Given the description of an element on the screen output the (x, y) to click on. 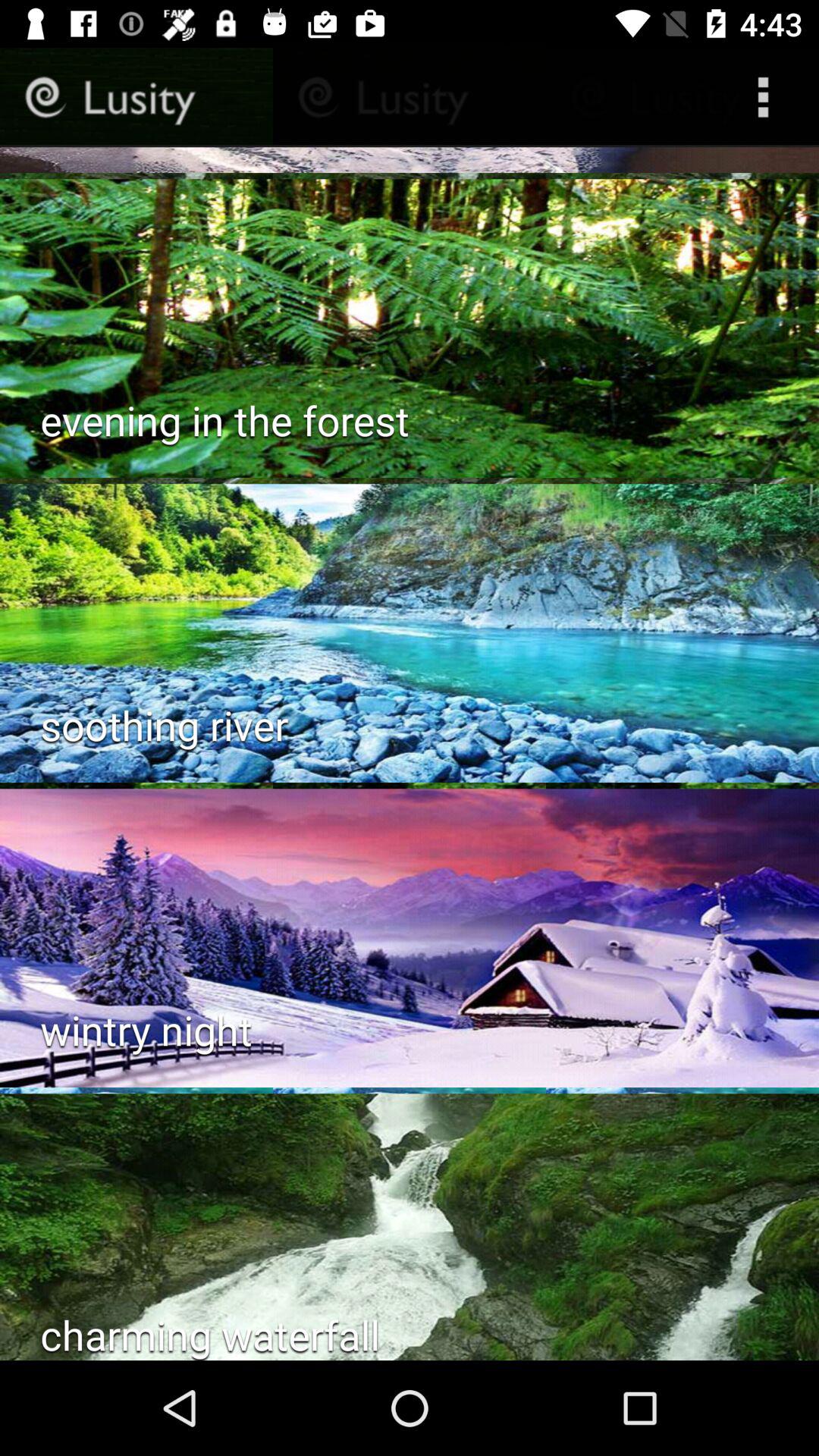
menu button (767, 97)
